Given the description of an element on the screen output the (x, y) to click on. 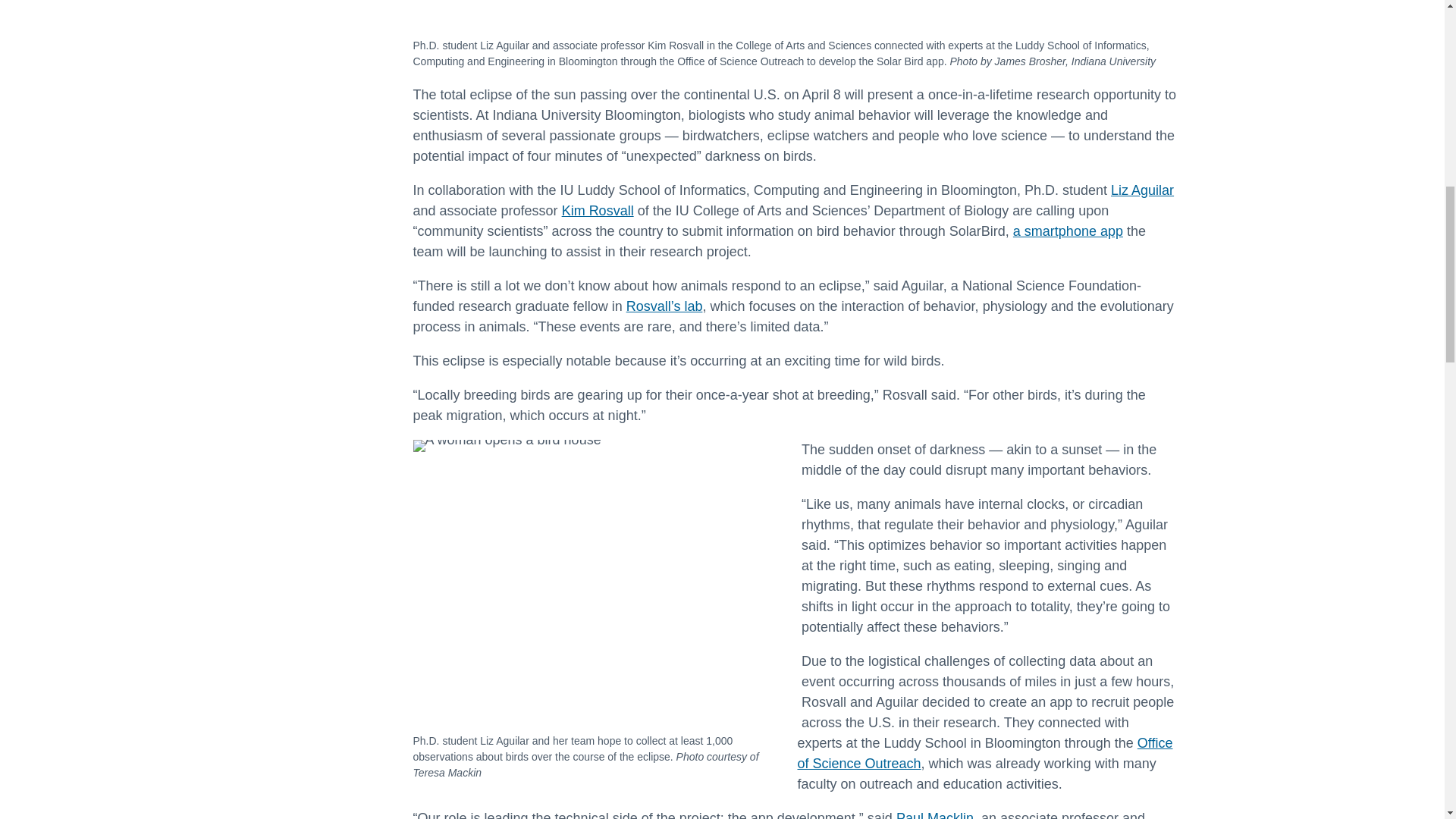
a smartphone app (1067, 231)
Office of Science Outreach (985, 753)
Kim Rosvall (597, 210)
Solar Bird (784, 9)
Liz Aguilar (1141, 190)
Paul Macklin (935, 814)
